Given the description of an element on the screen output the (x, y) to click on. 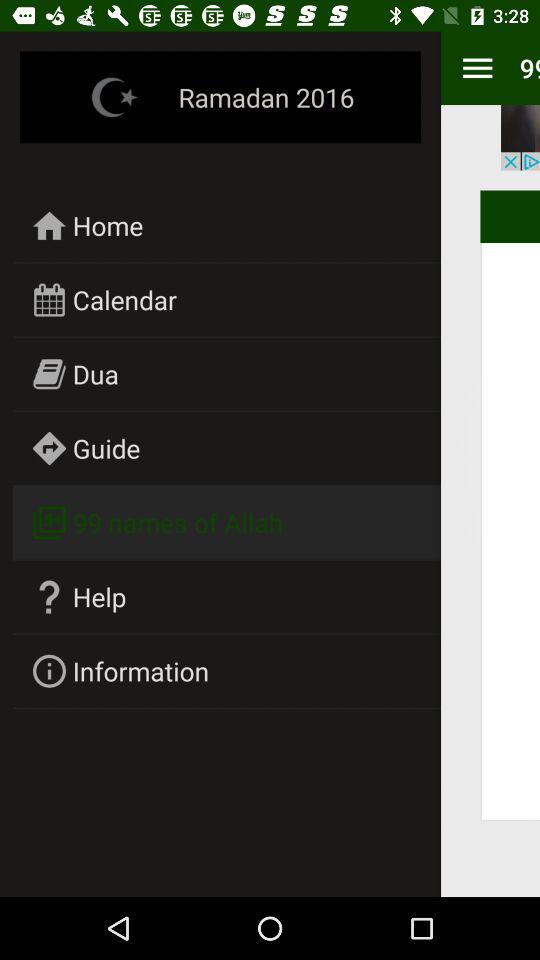
control video playback (520, 137)
